Given the description of an element on the screen output the (x, y) to click on. 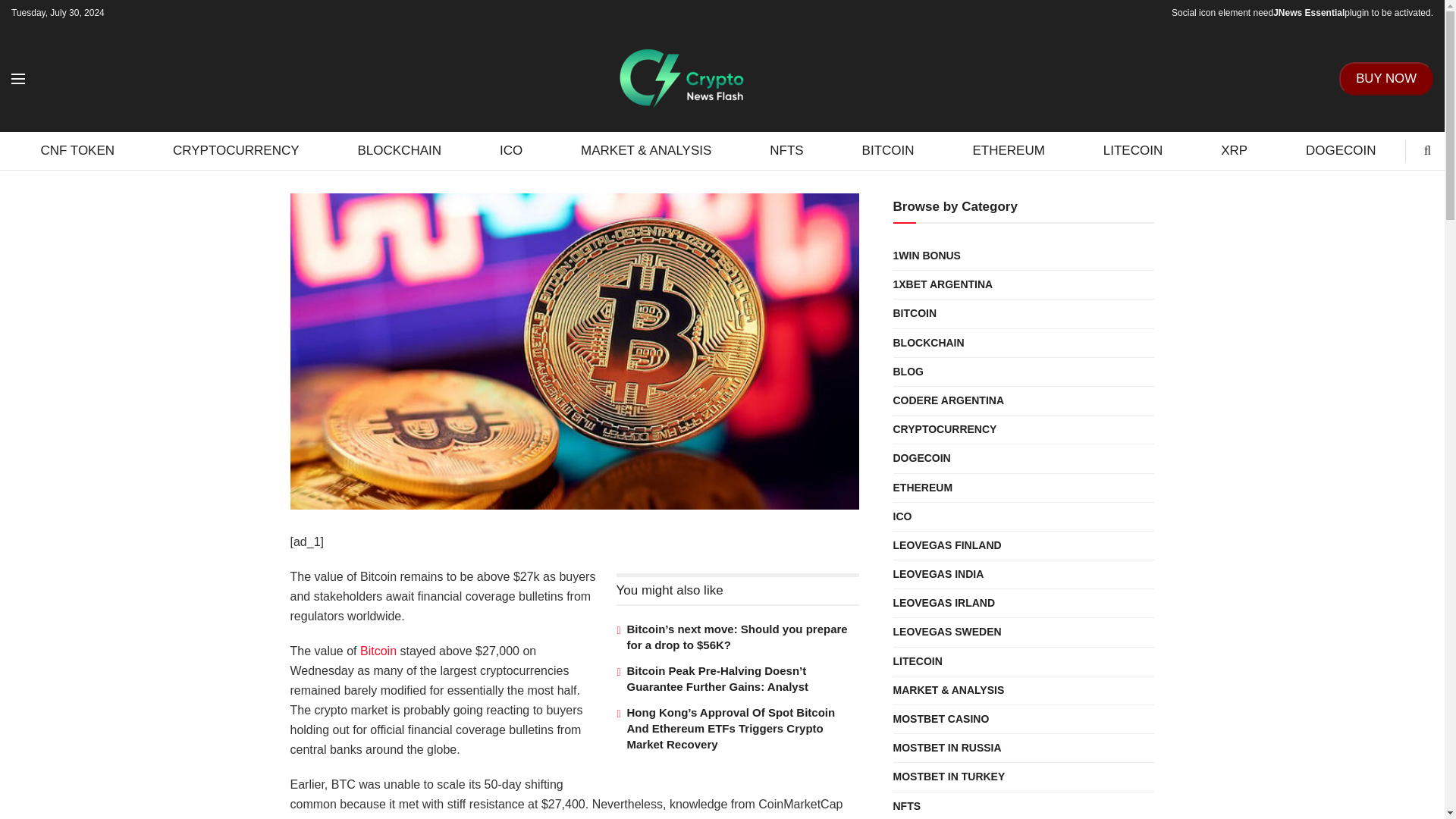
ETHEREUM (1008, 150)
BUY NOW (1385, 78)
CNF TOKEN (77, 150)
BITCOIN (887, 150)
Bitcoin (377, 650)
BUY NOW (1385, 78)
BLOCKCHAIN (399, 150)
ICO (510, 150)
CRYPTOCURRENCY (236, 150)
DOGECOIN (1340, 150)
LITECOIN (1132, 150)
XRP (1234, 150)
NFTS (786, 150)
